Given the description of an element on the screen output the (x, y) to click on. 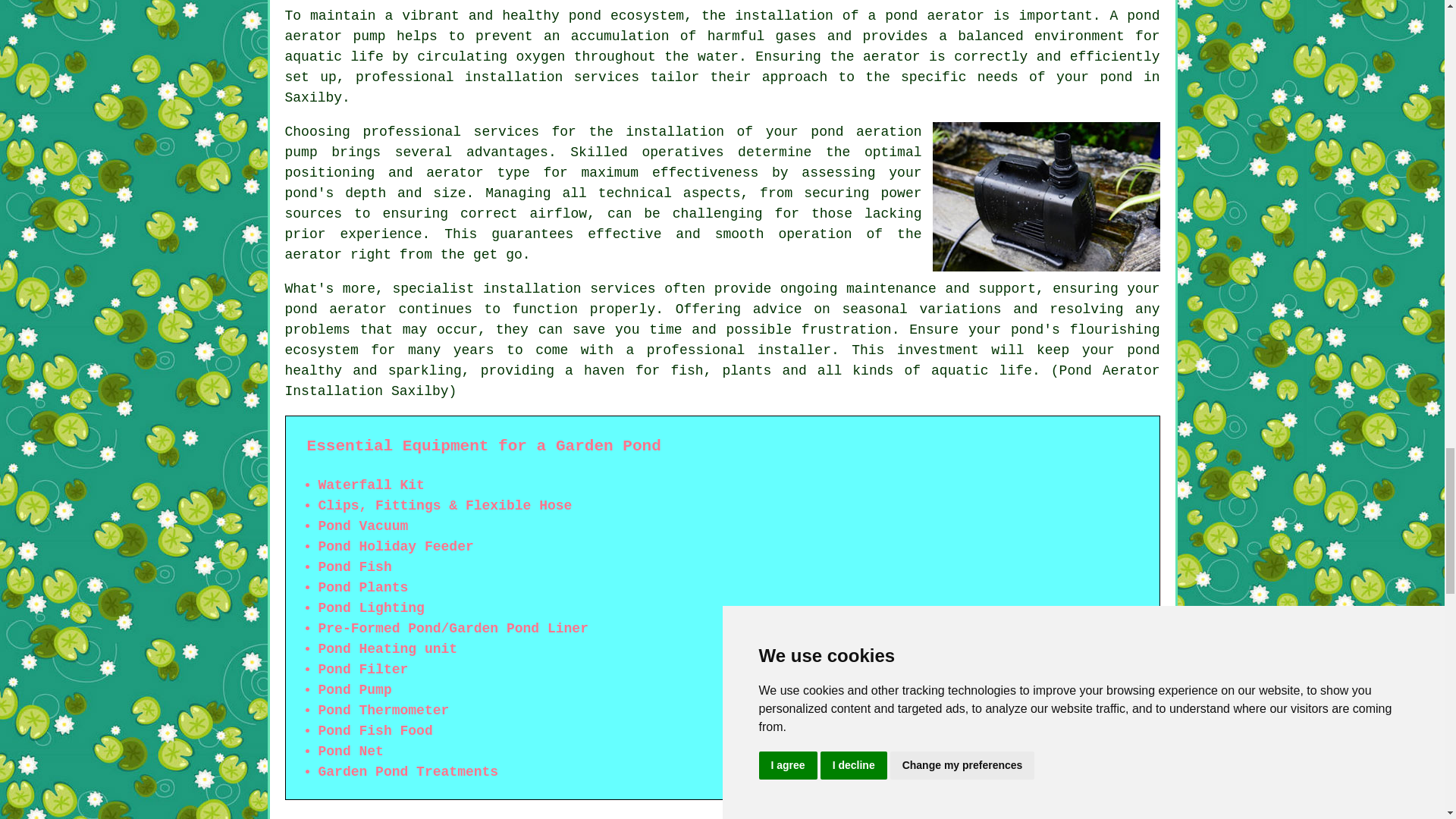
aerator (313, 254)
Pond Aerator Installation Saxilby (1046, 196)
pond (1142, 350)
pond aerator (934, 15)
